Given the description of an element on the screen output the (x, y) to click on. 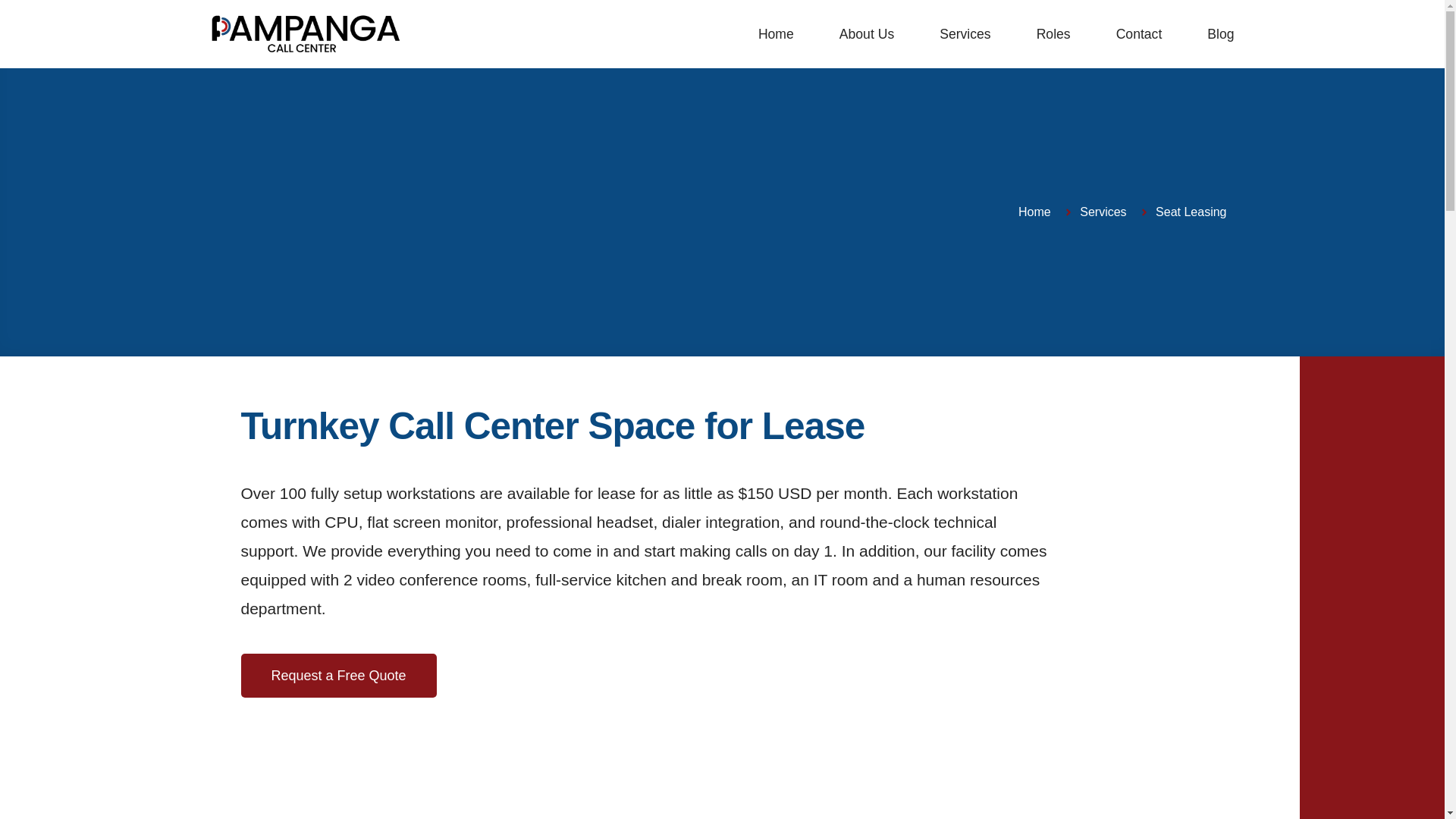
Services (964, 34)
Contact (1138, 34)
Request a Free Quote (338, 675)
Roles (1053, 34)
About Us (866, 34)
Home (775, 34)
